Given the description of an element on the screen output the (x, y) to click on. 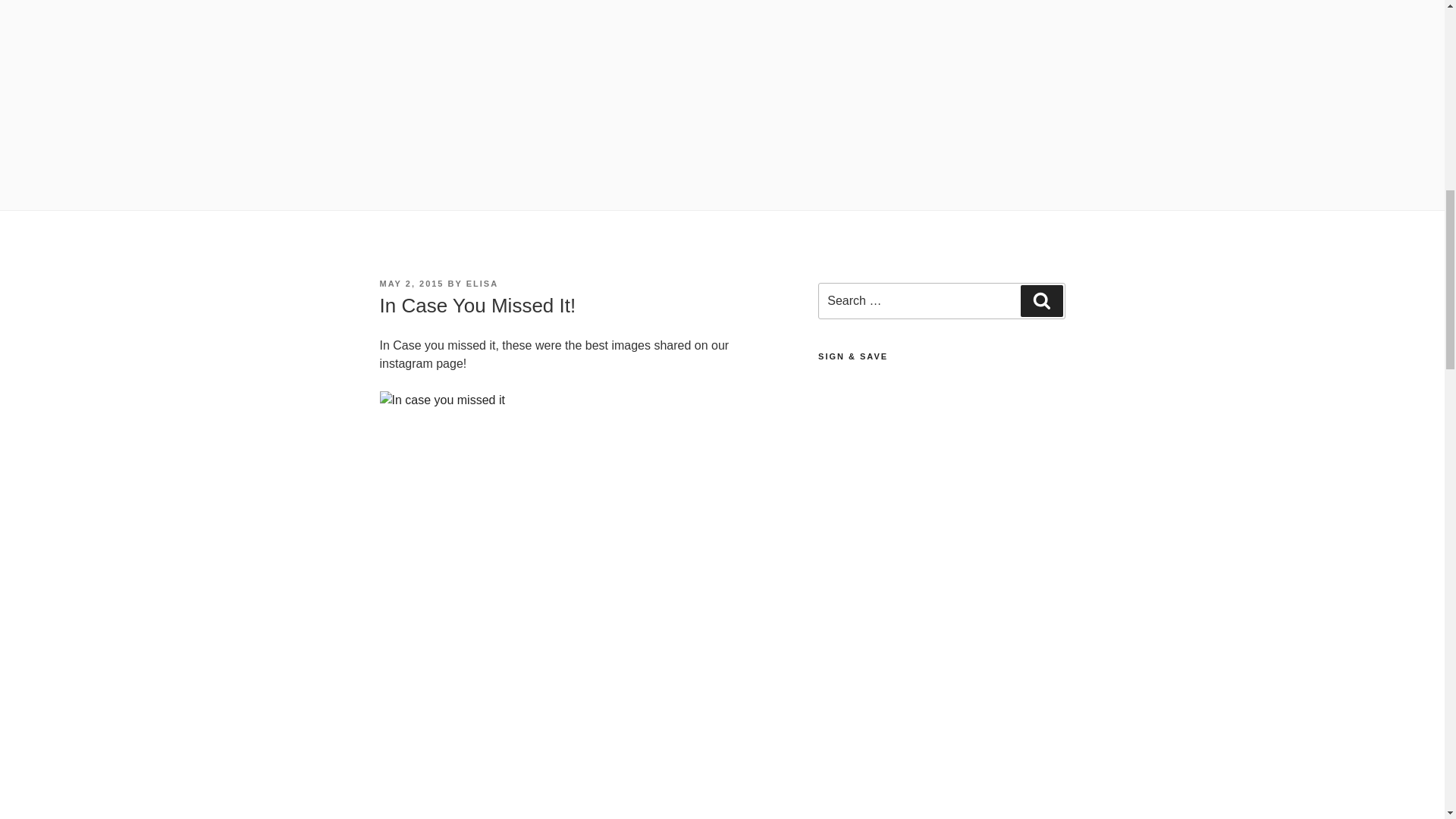
ELISA (481, 283)
MAY 2, 2015 (411, 283)
Search (1041, 300)
